Given the description of an element on the screen output the (x, y) to click on. 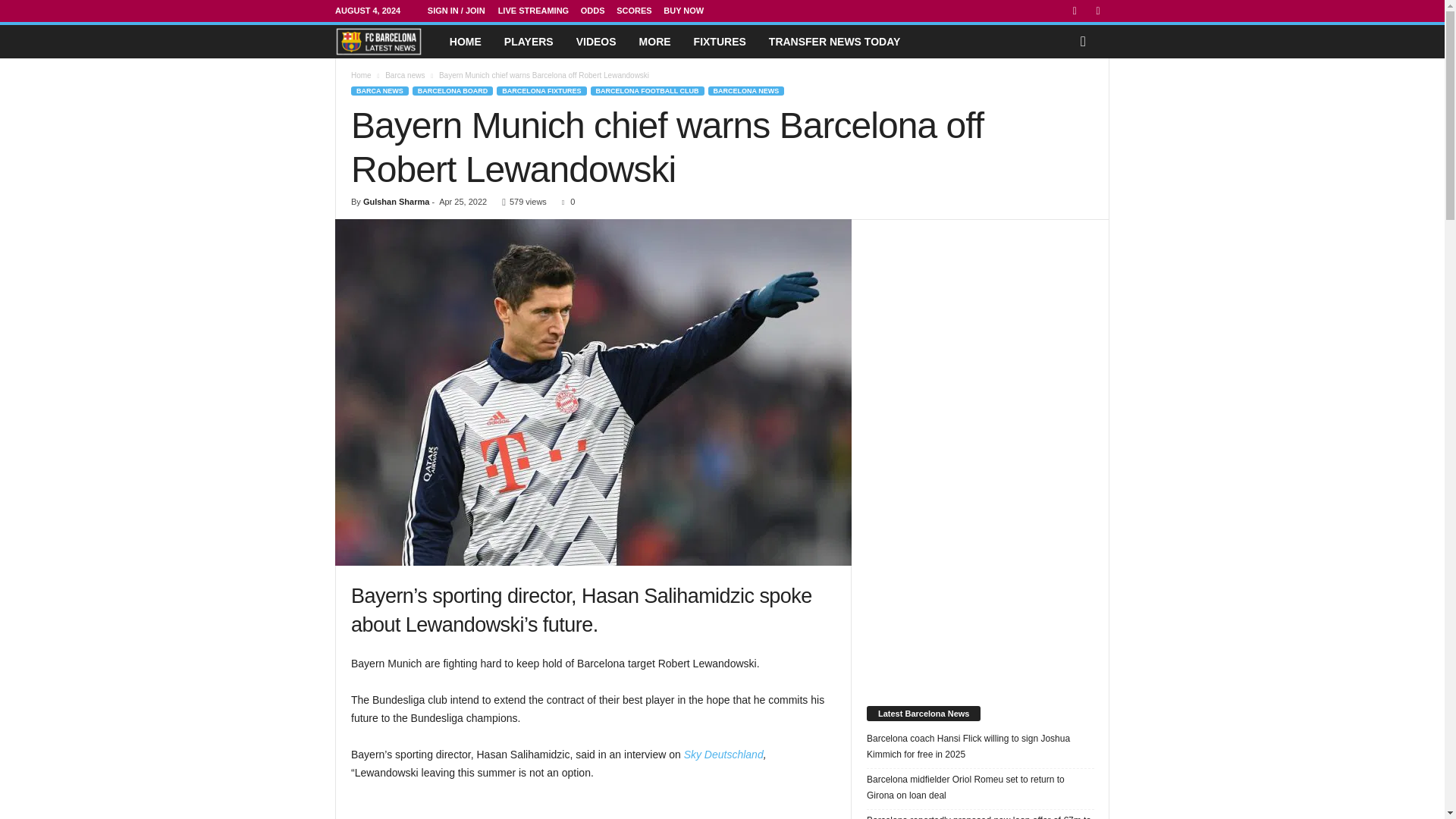
FC Barcelona Latest News Now Today Morning (450, 41)
View all posts in Barca news (410, 75)
LIVE STREAMING (539, 10)
ODDS (598, 10)
SCORES (640, 10)
BUY NOW (689, 10)
